Given the description of an element on the screen output the (x, y) to click on. 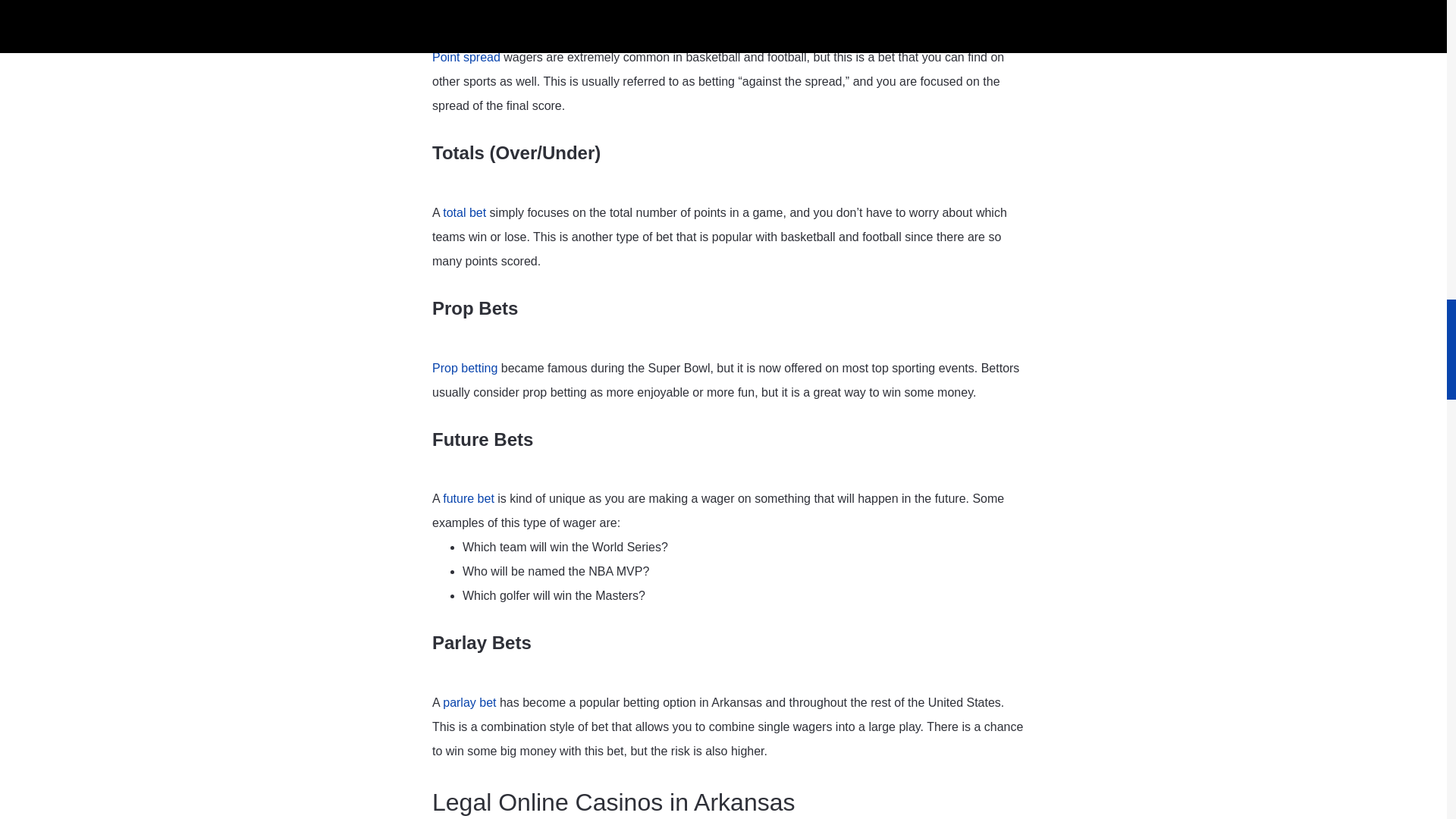
Point spread (466, 56)
future bet (468, 498)
Prop betting (464, 367)
parlay bet (469, 702)
total bet (464, 212)
